Given the description of an element on the screen output the (x, y) to click on. 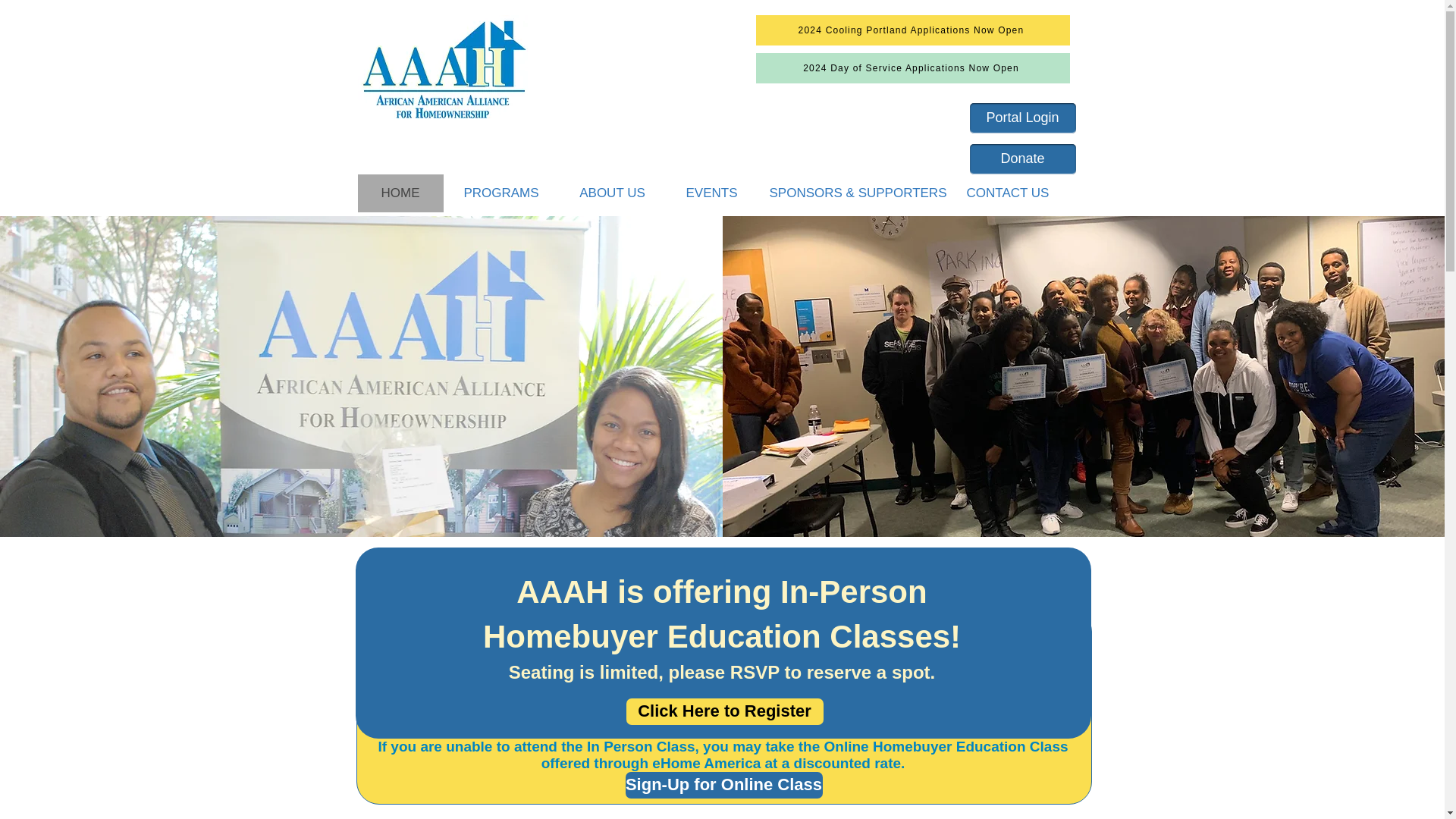
CONTACT US (1006, 193)
2024 Cooling Portland Applications Now Open (911, 30)
Sign-Up for Online Class (723, 785)
HOME (401, 193)
2024 Day of Service Applications Now Open (911, 68)
Site Search (887, 164)
ABOUT US (611, 193)
EVENTS (711, 193)
Click Here to Register (725, 711)
Donate (1022, 159)
Portal Login (1022, 118)
PROGRAMS (499, 193)
